Given the description of an element on the screen output the (x, y) to click on. 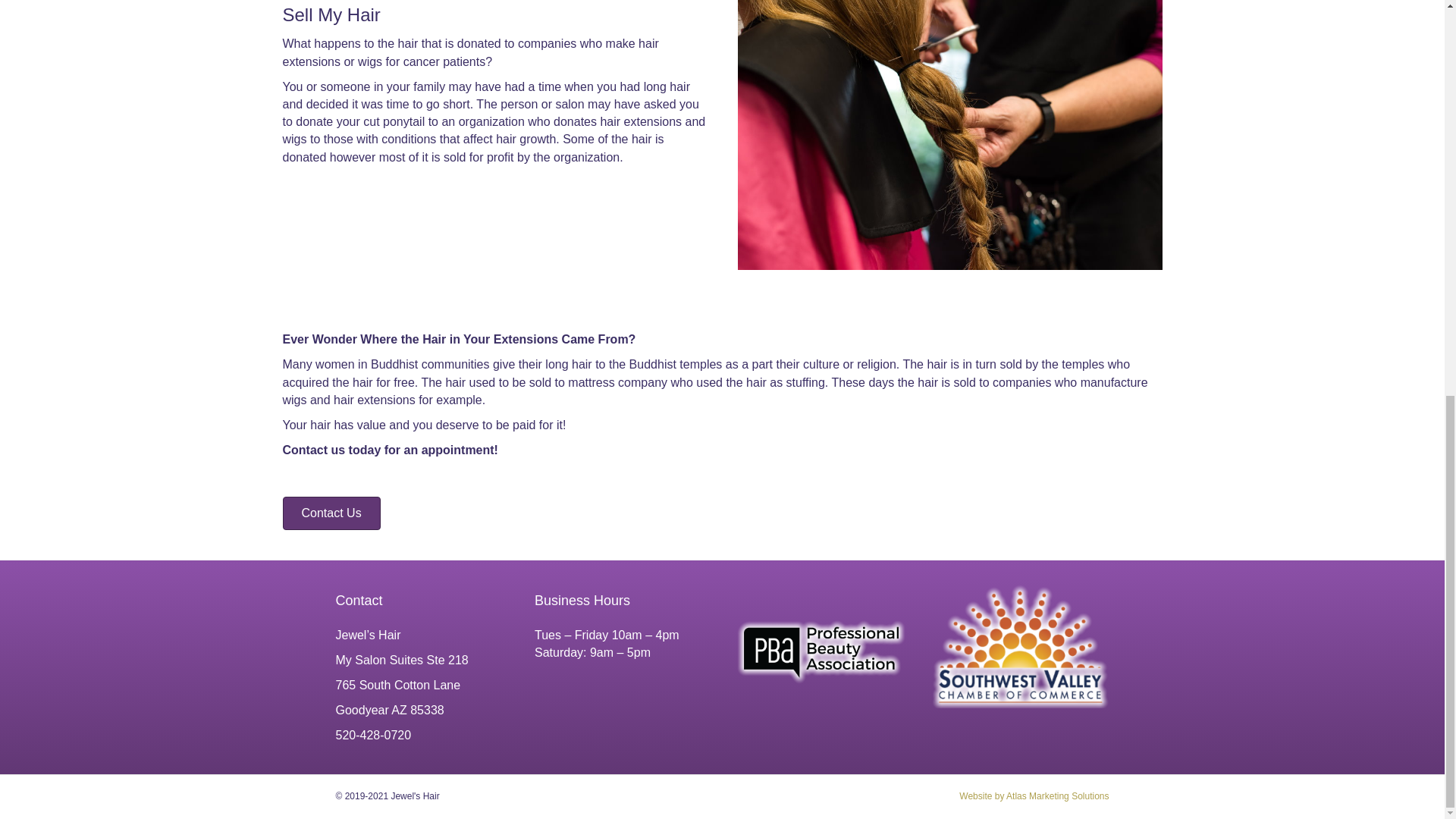
Website by Atlas Marketing Solutions (1033, 796)
Sell Your Hair Peoria, AZ (948, 135)
Contact Us (331, 512)
